Given the description of an element on the screen output the (x, y) to click on. 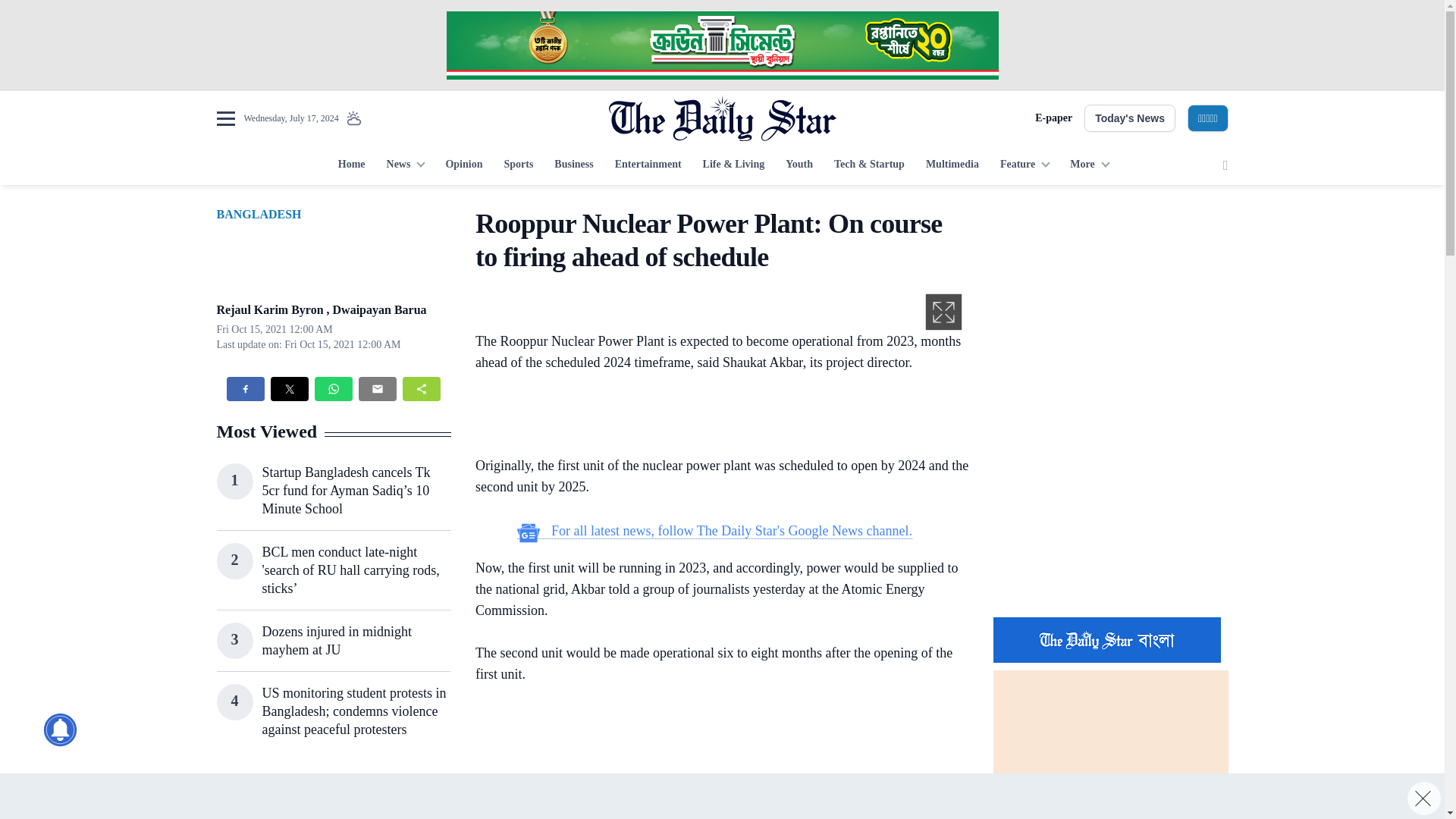
Business (573, 165)
News (405, 165)
Entertainment (647, 165)
Feature (1024, 165)
Multimedia (952, 165)
3rd party ad content (332, 794)
E-paper (1053, 117)
3rd party ad content (1110, 506)
Today's News (1129, 117)
3rd party ad content (721, 45)
Opinion (463, 165)
3rd party ad content (713, 762)
Sports (518, 165)
3rd party ad content (714, 416)
